Given the description of an element on the screen output the (x, y) to click on. 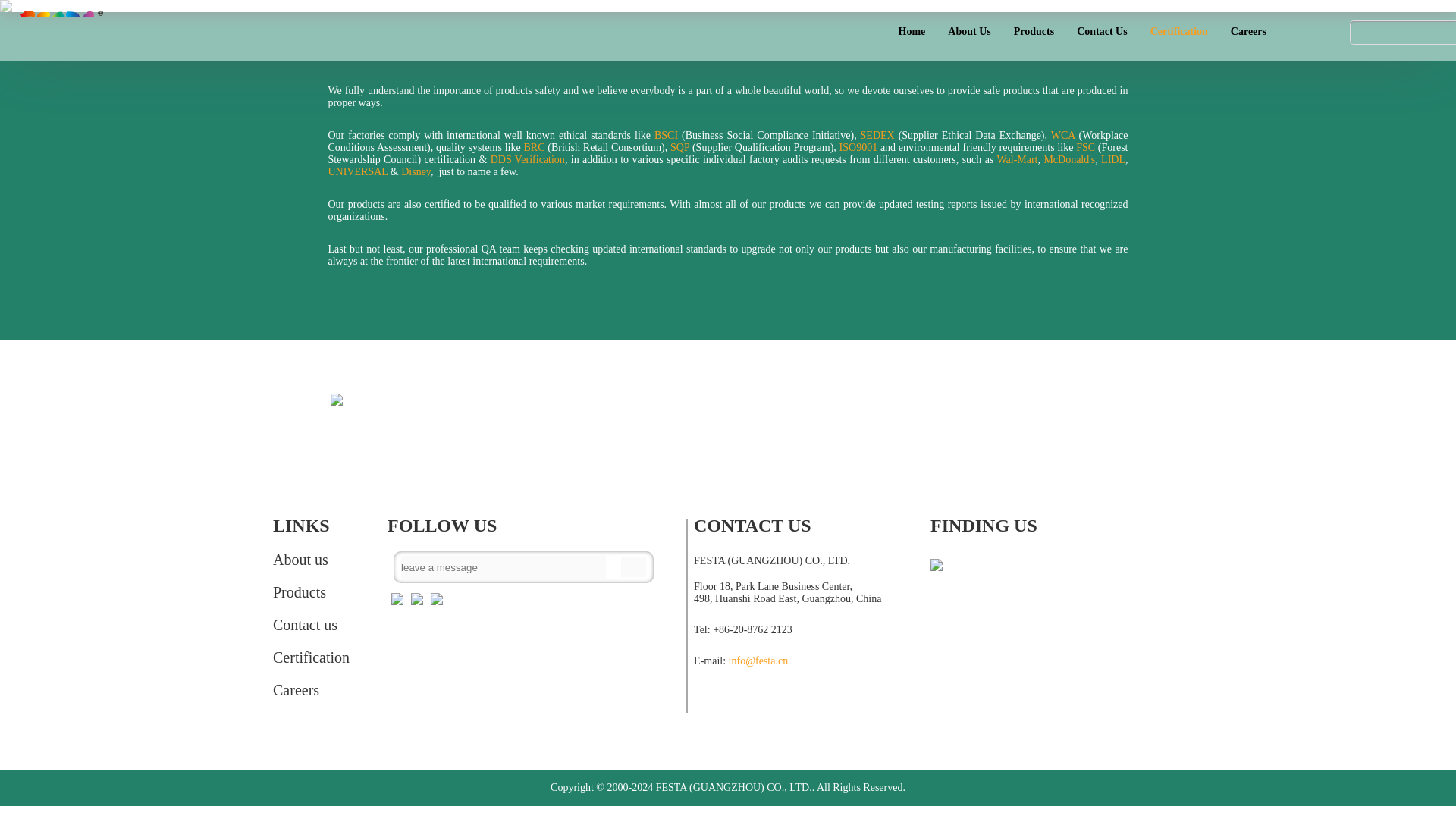
Contact us (311, 624)
About us (311, 559)
Products (311, 592)
Certification (311, 657)
Careers (311, 690)
